Given the description of an element on the screen output the (x, y) to click on. 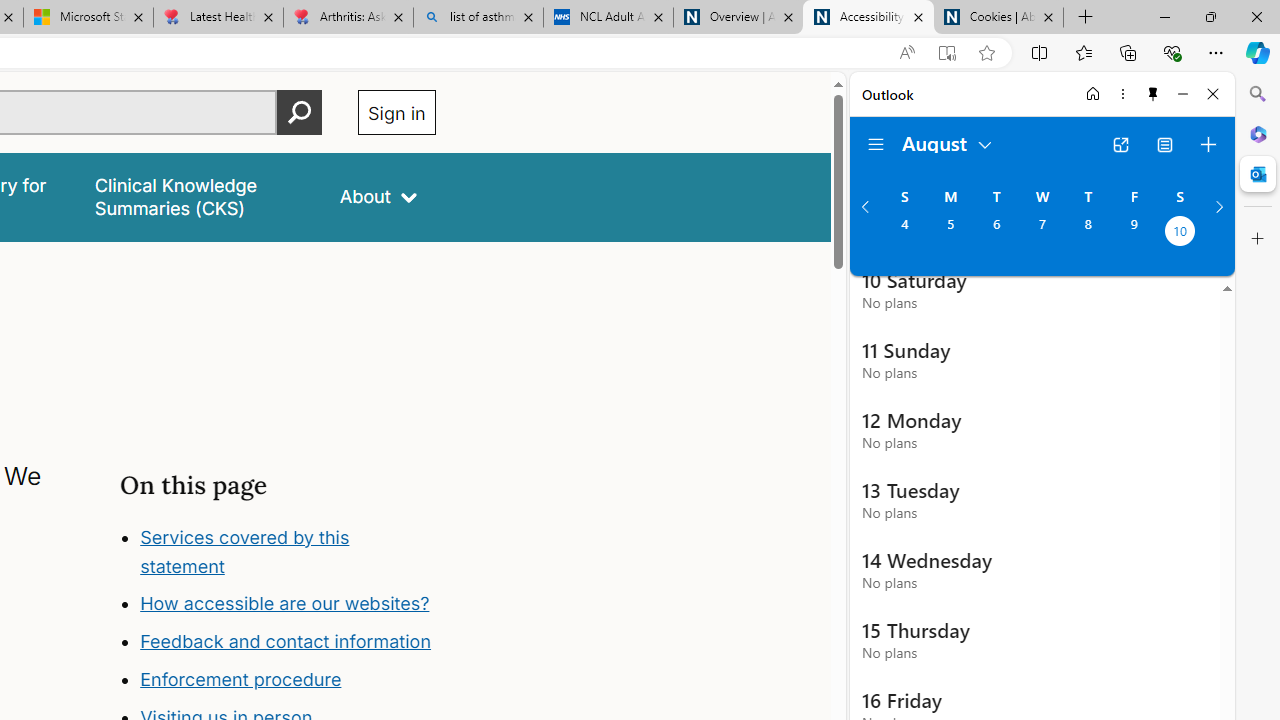
Monday, August 5, 2024.  (950, 233)
Create event (1208, 144)
Services covered by this statement (244, 551)
Tuesday, August 6, 2024.  (996, 233)
Open in new tab (1120, 144)
Enforcement procedure (240, 679)
Feedback and contact information (285, 641)
Unpin side pane (1153, 93)
